Given the description of an element on the screen output the (x, y) to click on. 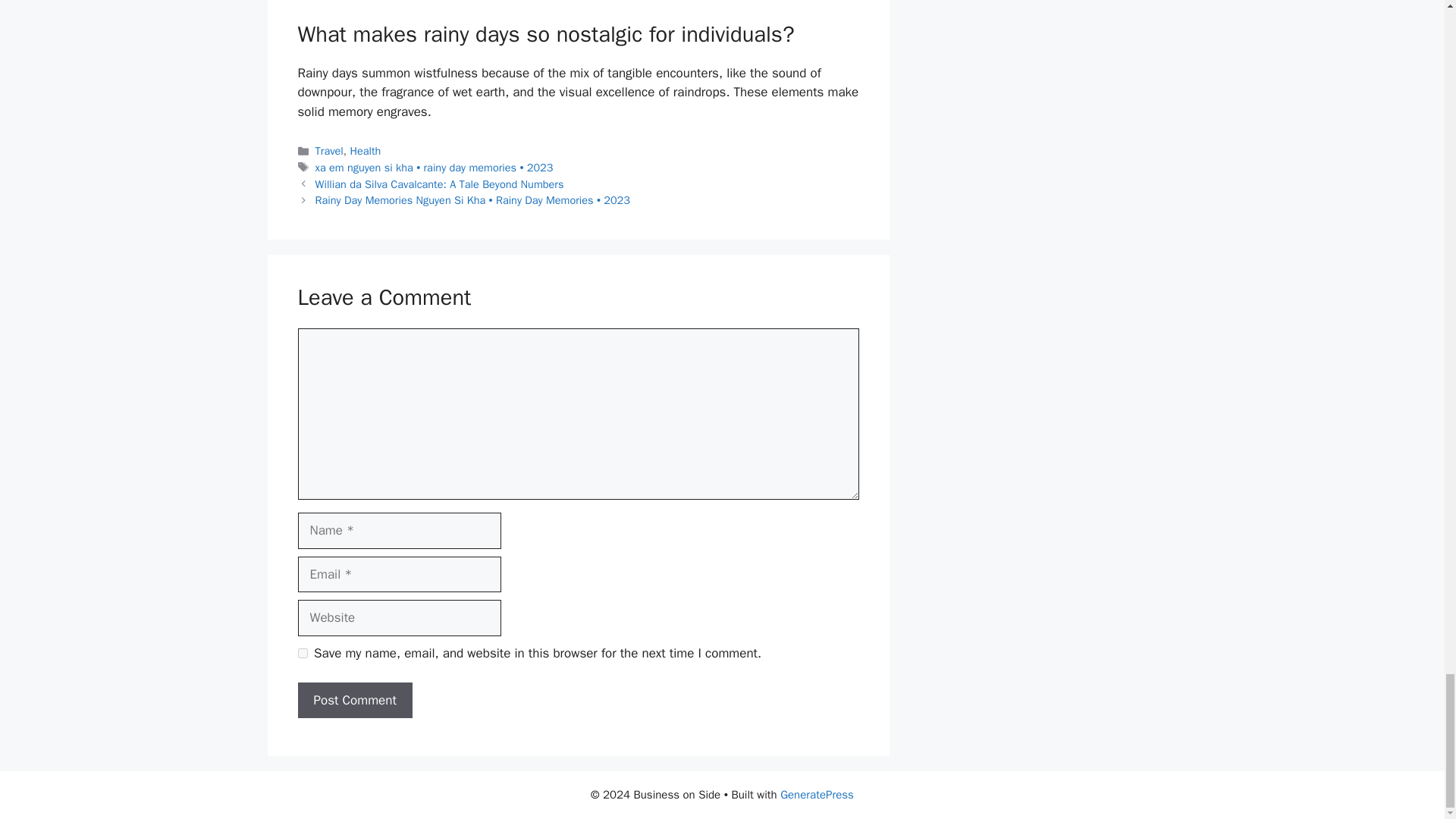
Willian da Silva Cavalcante: A Tale Beyond Numbers (439, 183)
Post Comment (354, 700)
yes (302, 653)
Travel (329, 151)
Health (364, 151)
